Given the description of an element on the screen output the (x, y) to click on. 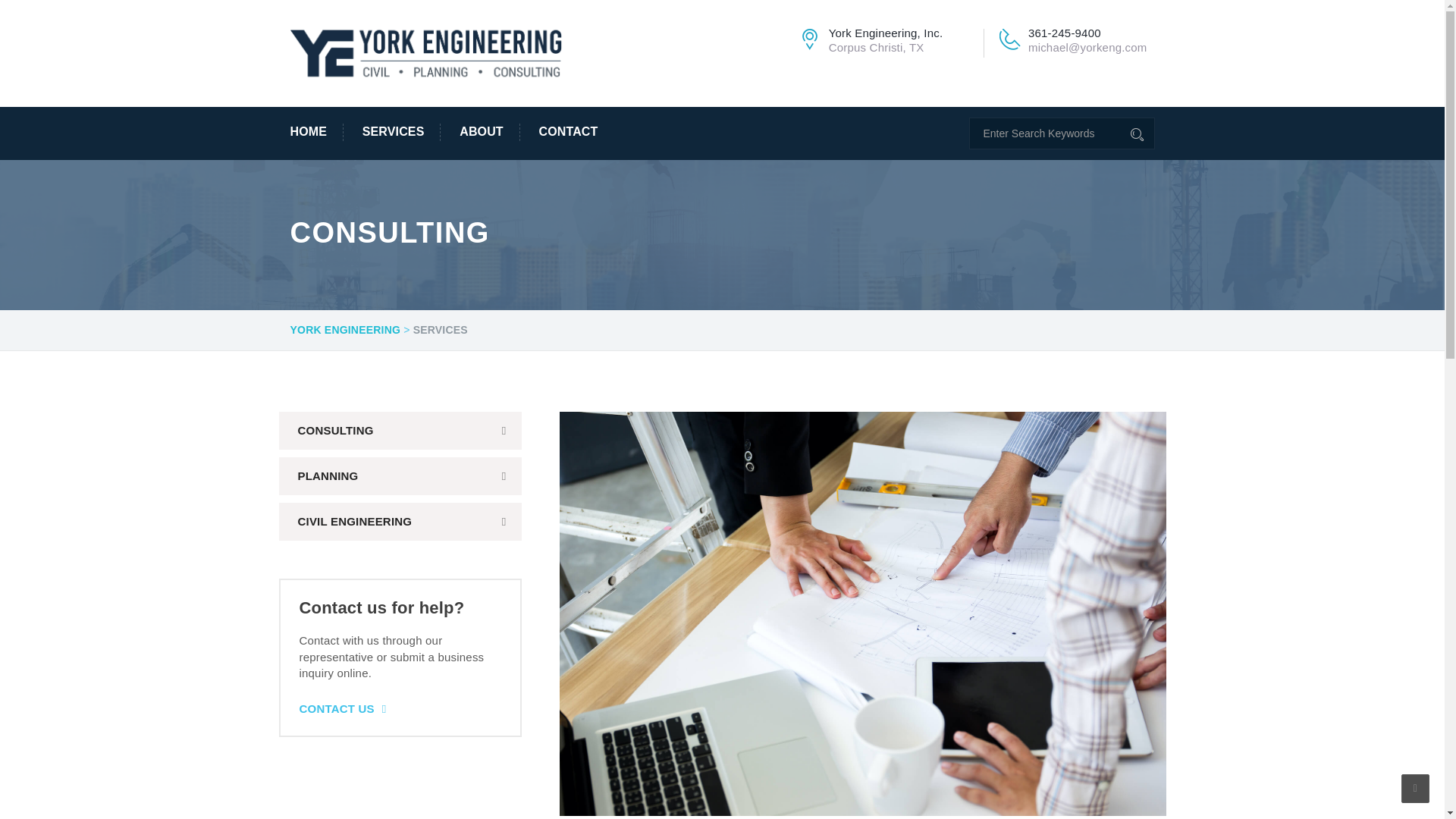
YORK ENGINEERING (344, 330)
Go to York Engineering. (344, 330)
HOME (315, 131)
York Engineering (425, 51)
CIVIL ENGINEERING (400, 521)
ABOUT (481, 131)
SERVICES (393, 131)
CONSULTING (400, 430)
CONTACT (560, 131)
PLANNING (400, 476)
CONTACT US (341, 707)
